Given the description of an element on the screen output the (x, y) to click on. 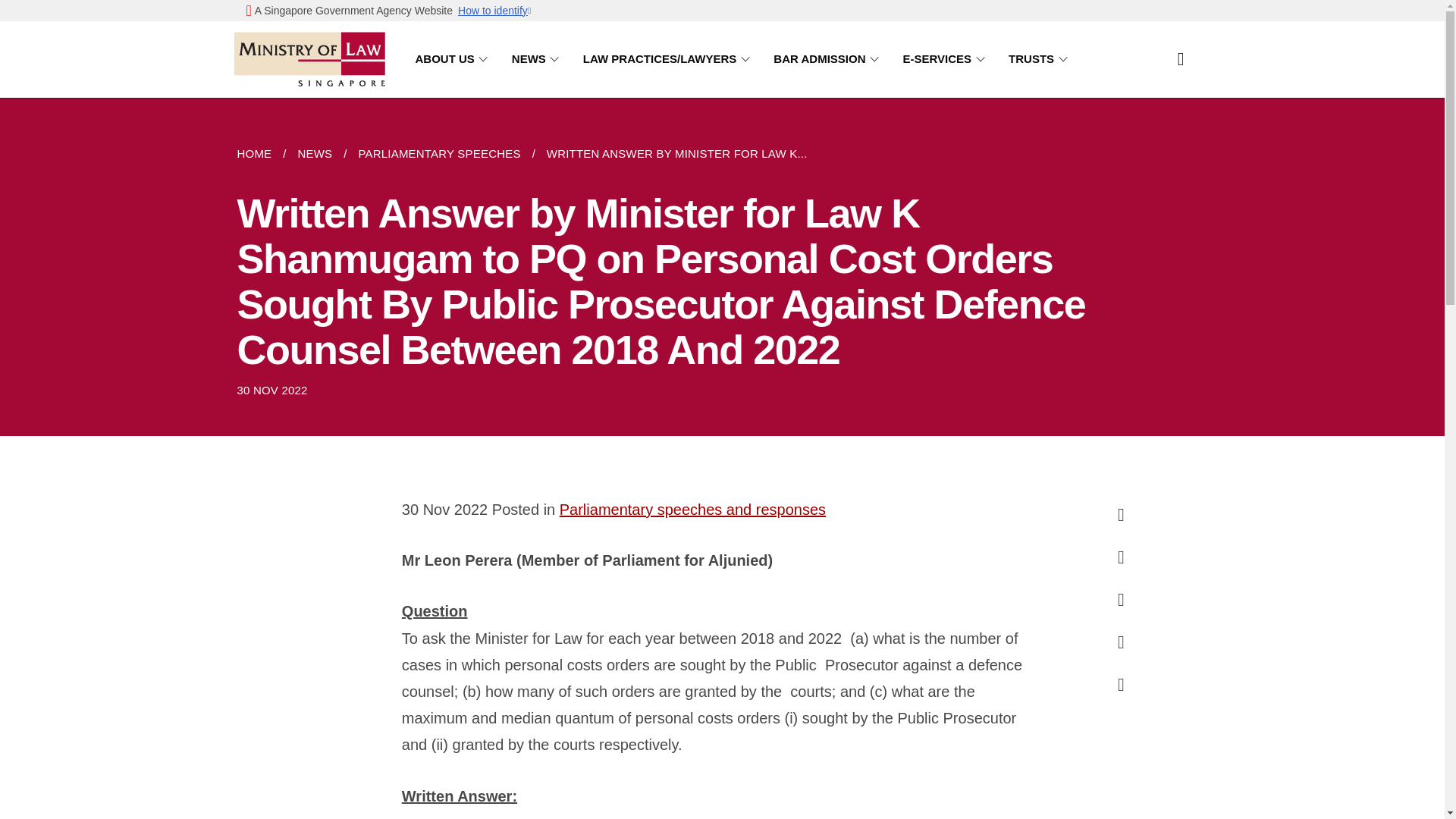
BAR ADMISSION (828, 59)
ABOUT US (453, 59)
E-SERVICES (946, 59)
